Given the description of an element on the screen output the (x, y) to click on. 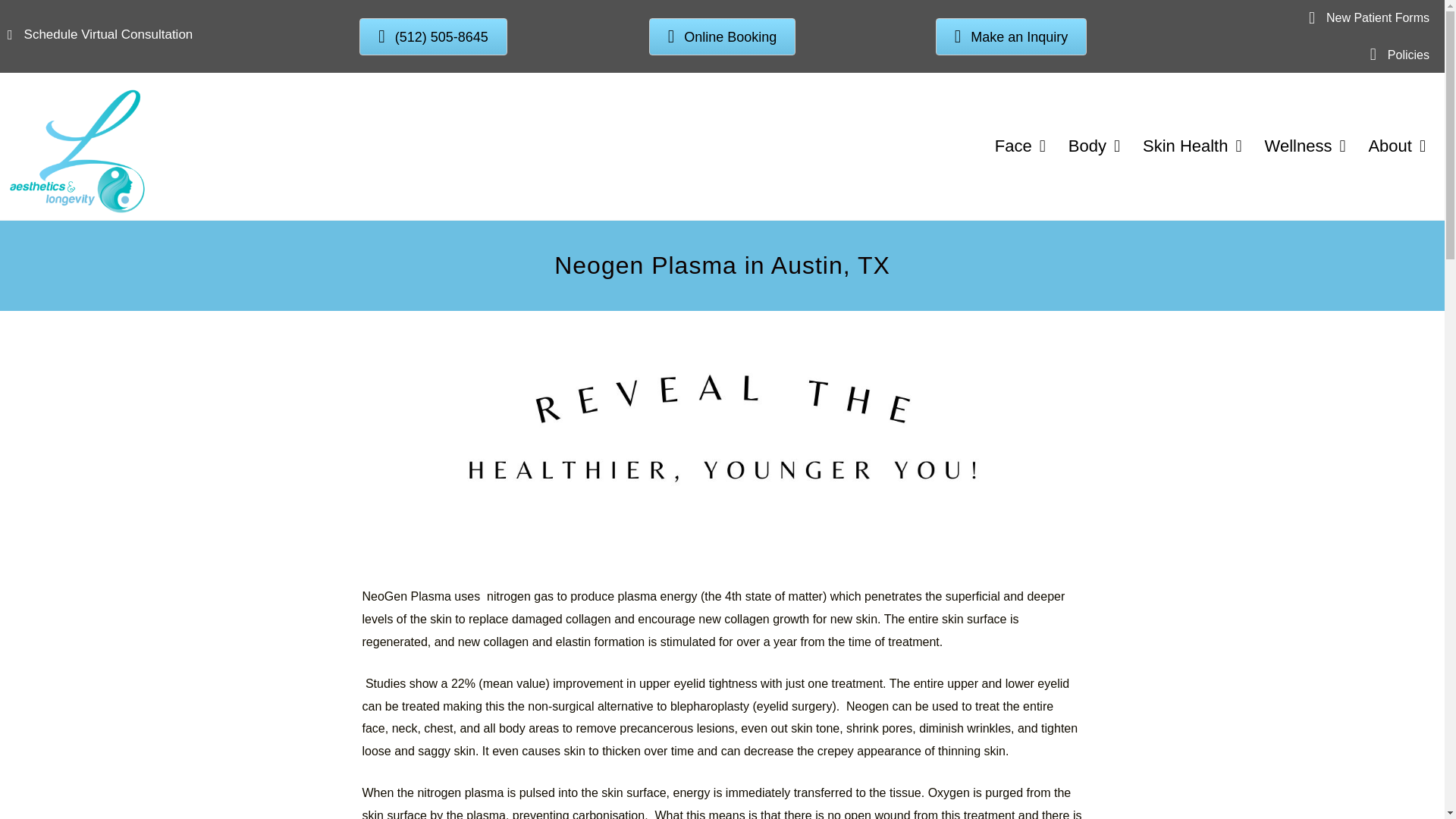
Is Medical Grade Skincare Worth it? (1192, 146)
Schedule Virtual Consultation (108, 34)
Face (1019, 146)
New Patient Forms (1377, 17)
 Aesthetic Services in Austin and Bee Cave Texas (1019, 146)
Policies (1408, 55)
Make an Inquiry (1011, 36)
Online Booking (722, 36)
